Given the description of an element on the screen output the (x, y) to click on. 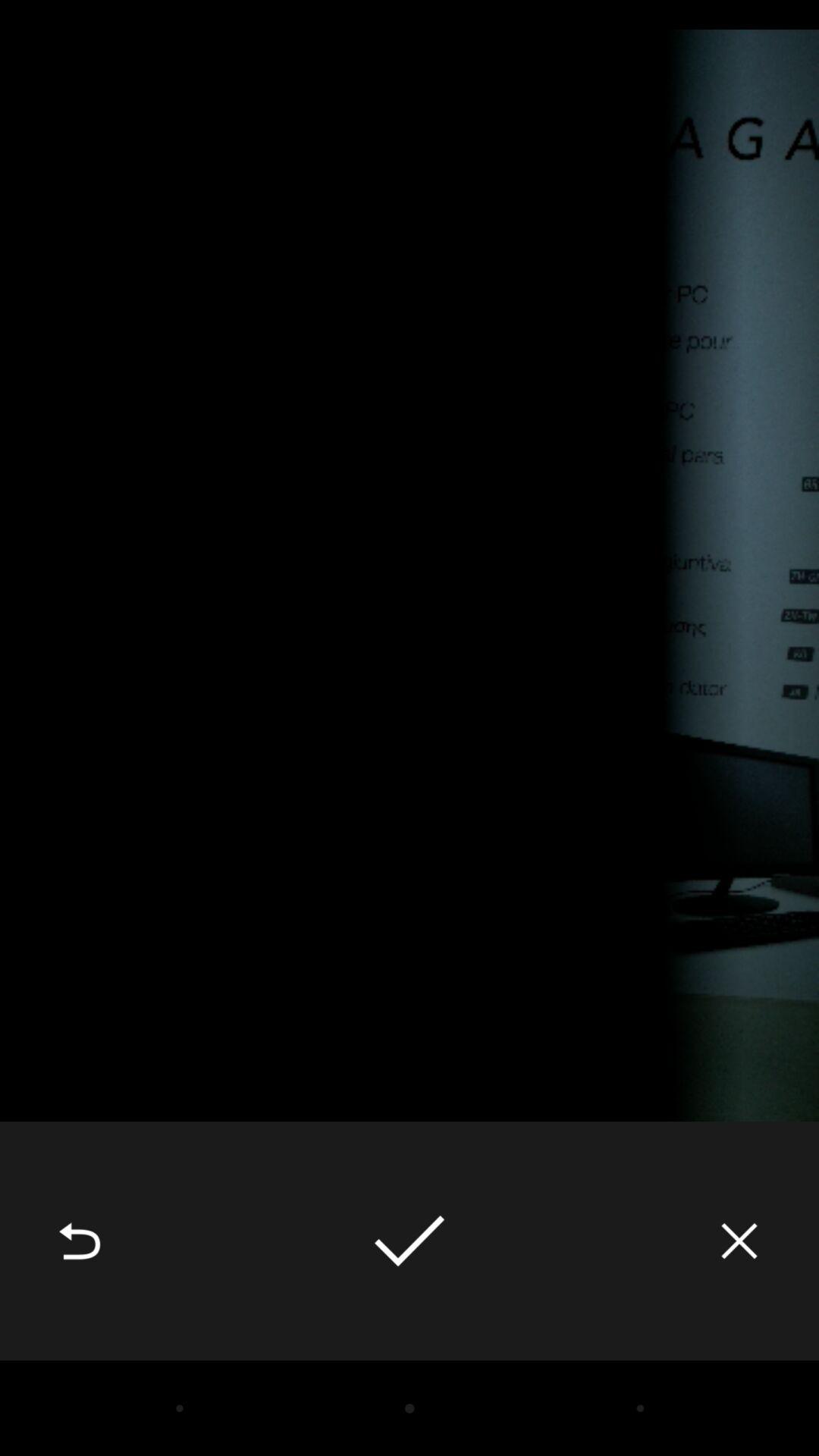
press the icon at the bottom left corner (79, 1240)
